Given the description of an element on the screen output the (x, y) to click on. 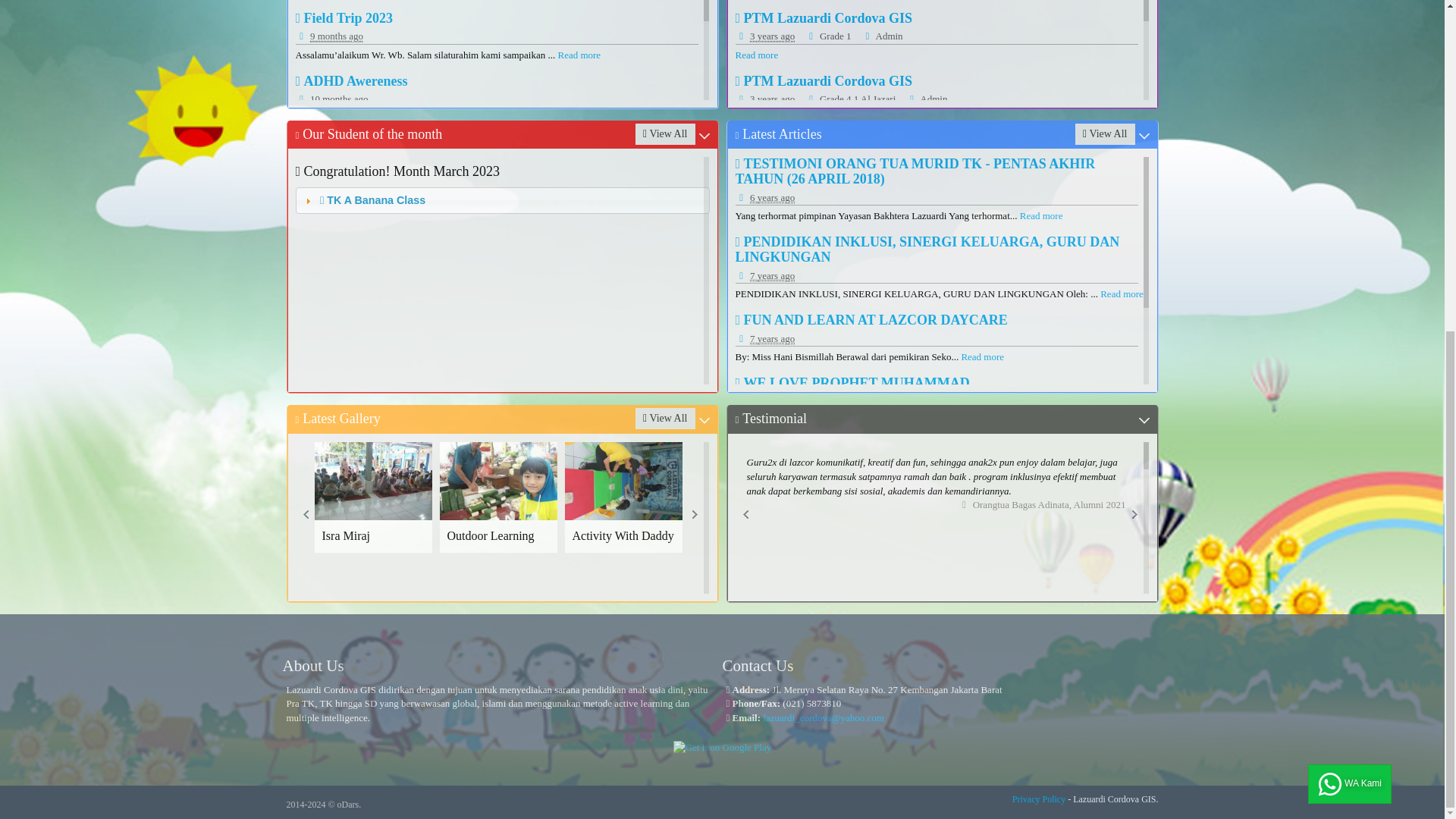
ADHD Awereness (351, 80)
Field Trip 2023 (344, 17)
Monday 11 October 2021 (502, 270)
Guru (771, 99)
Guru (881, 36)
Monday 11 October 2021 (926, 99)
Thursday 19 October 2023 00:00 (502, 517)
Tanggal (771, 36)
Read more (336, 36)
Saturday 7 October 2023 09:00 (764, 99)
Kelas (578, 54)
